Given the description of an element on the screen output the (x, y) to click on. 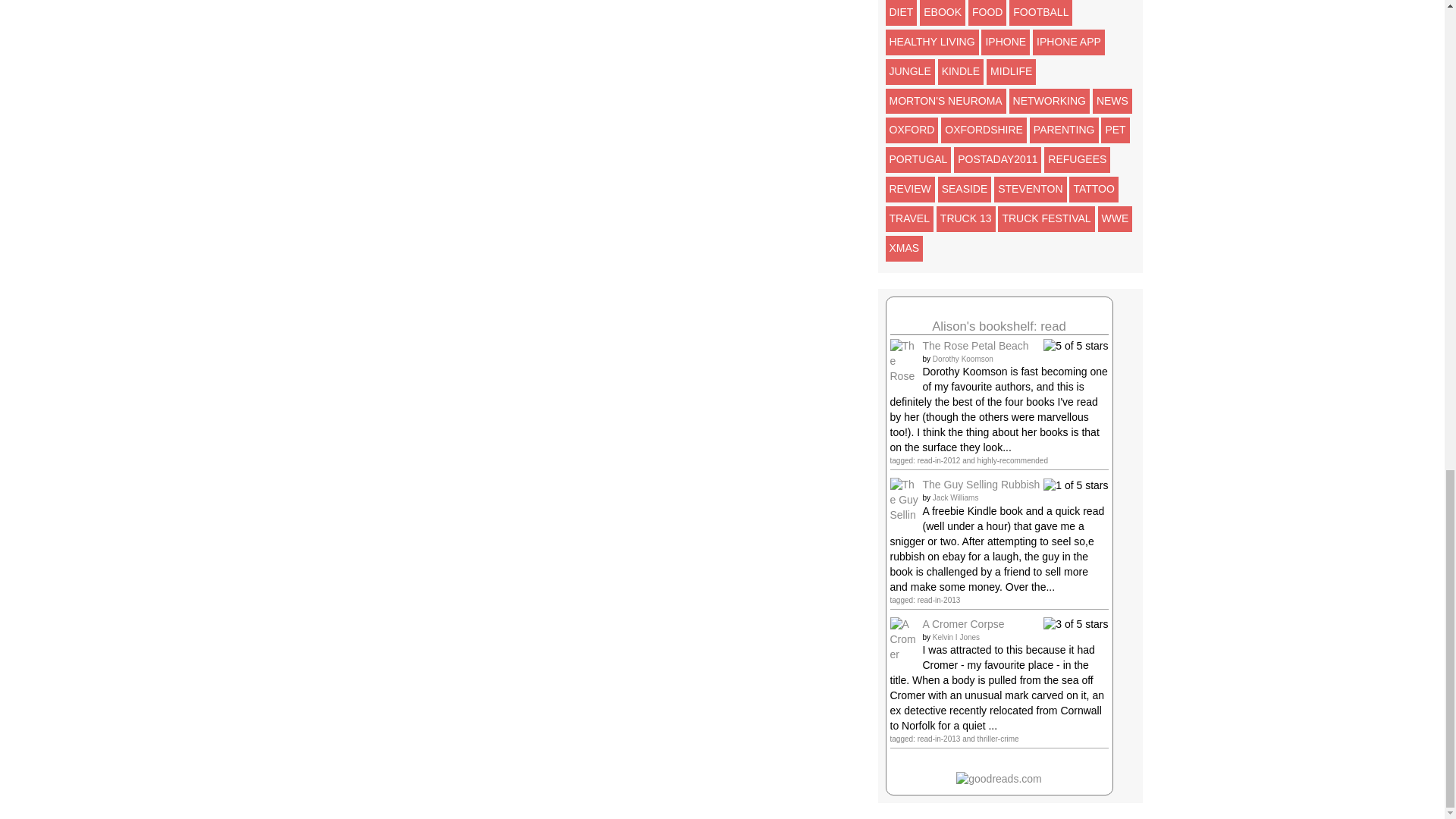
The Rose Petal Beach (904, 383)
